Given the description of an element on the screen output the (x, y) to click on. 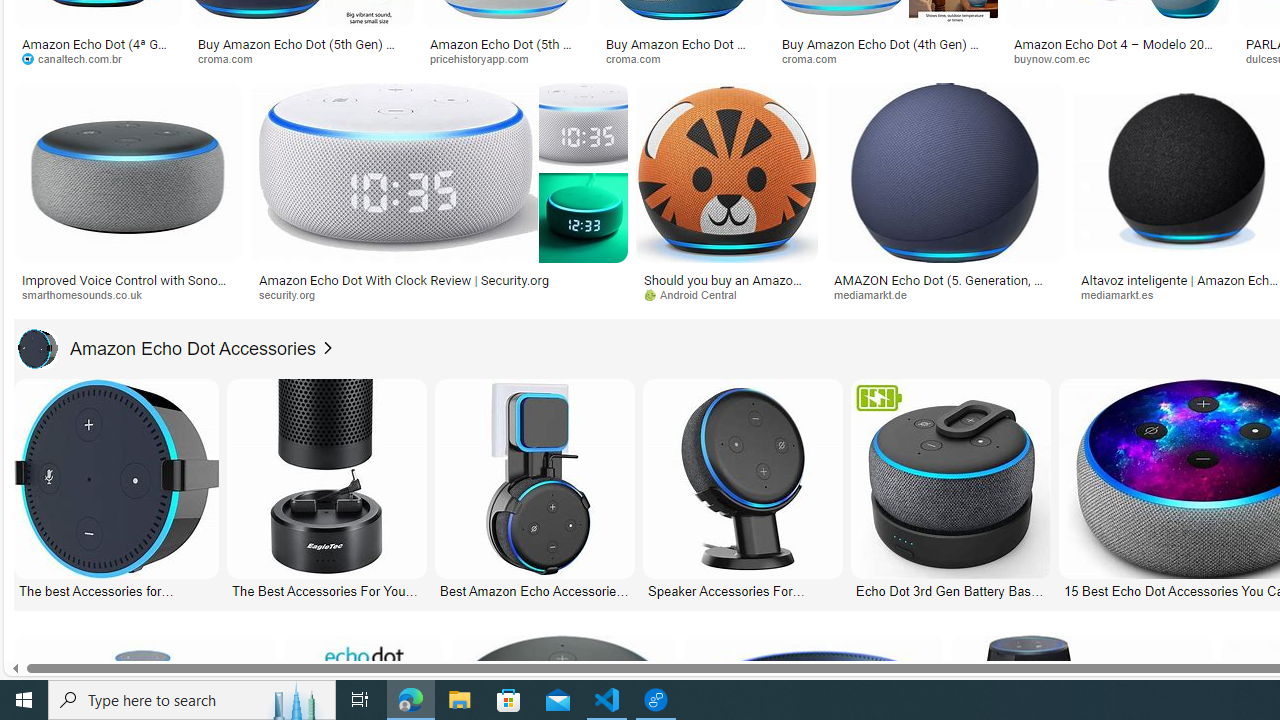
mediamarkt.es (1124, 294)
buynow.com.ec (1058, 57)
security.org (294, 294)
security.org (438, 295)
Image result for Amazon Echo Dot PNG (944, 172)
